Given the description of an element on the screen output the (x, y) to click on. 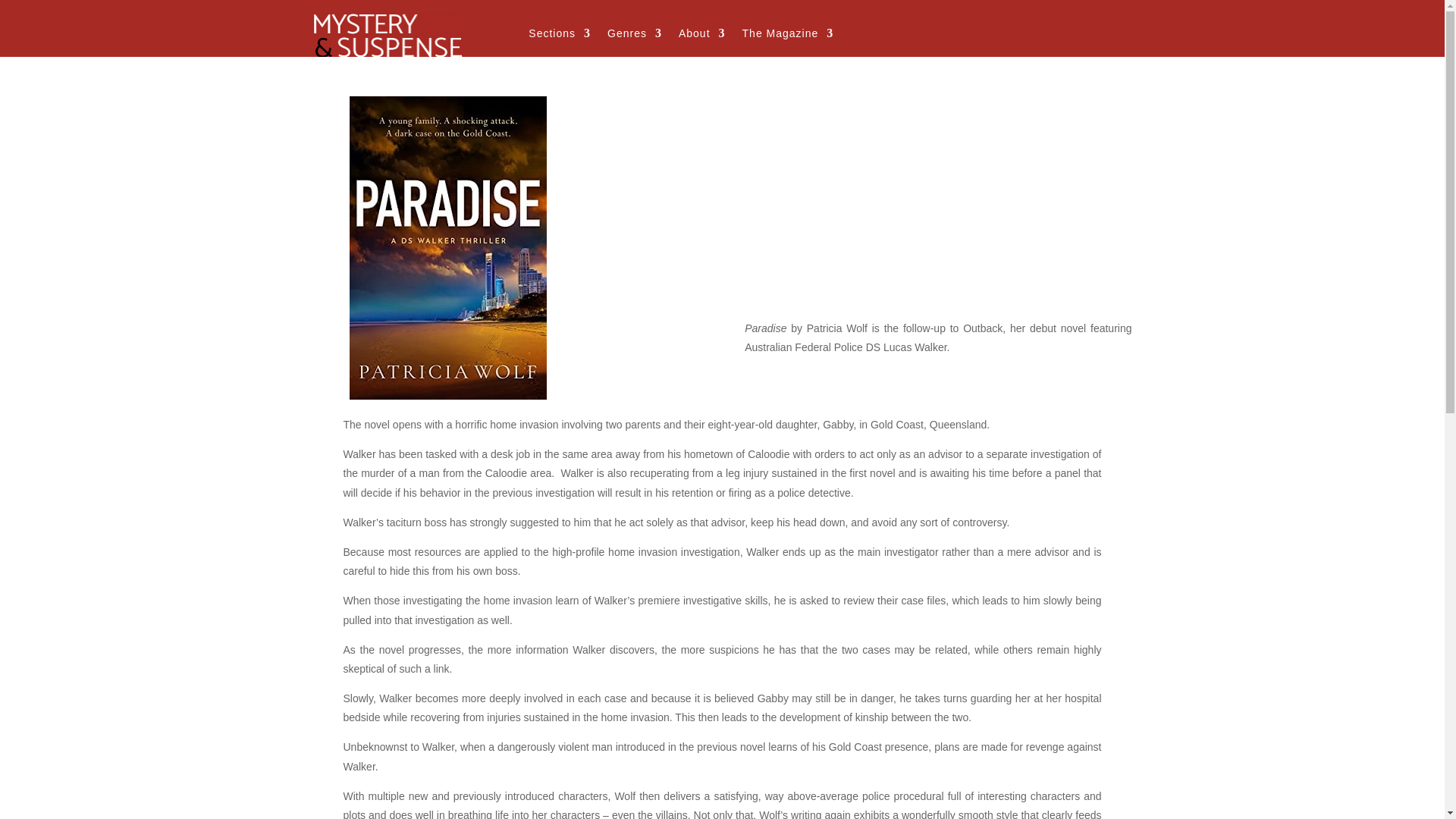
The Magazine (788, 36)
Genres (634, 36)
About (701, 36)
Sections (559, 36)
Mystery and Suspense Magazine (388, 33)
